Given the description of an element on the screen output the (x, y) to click on. 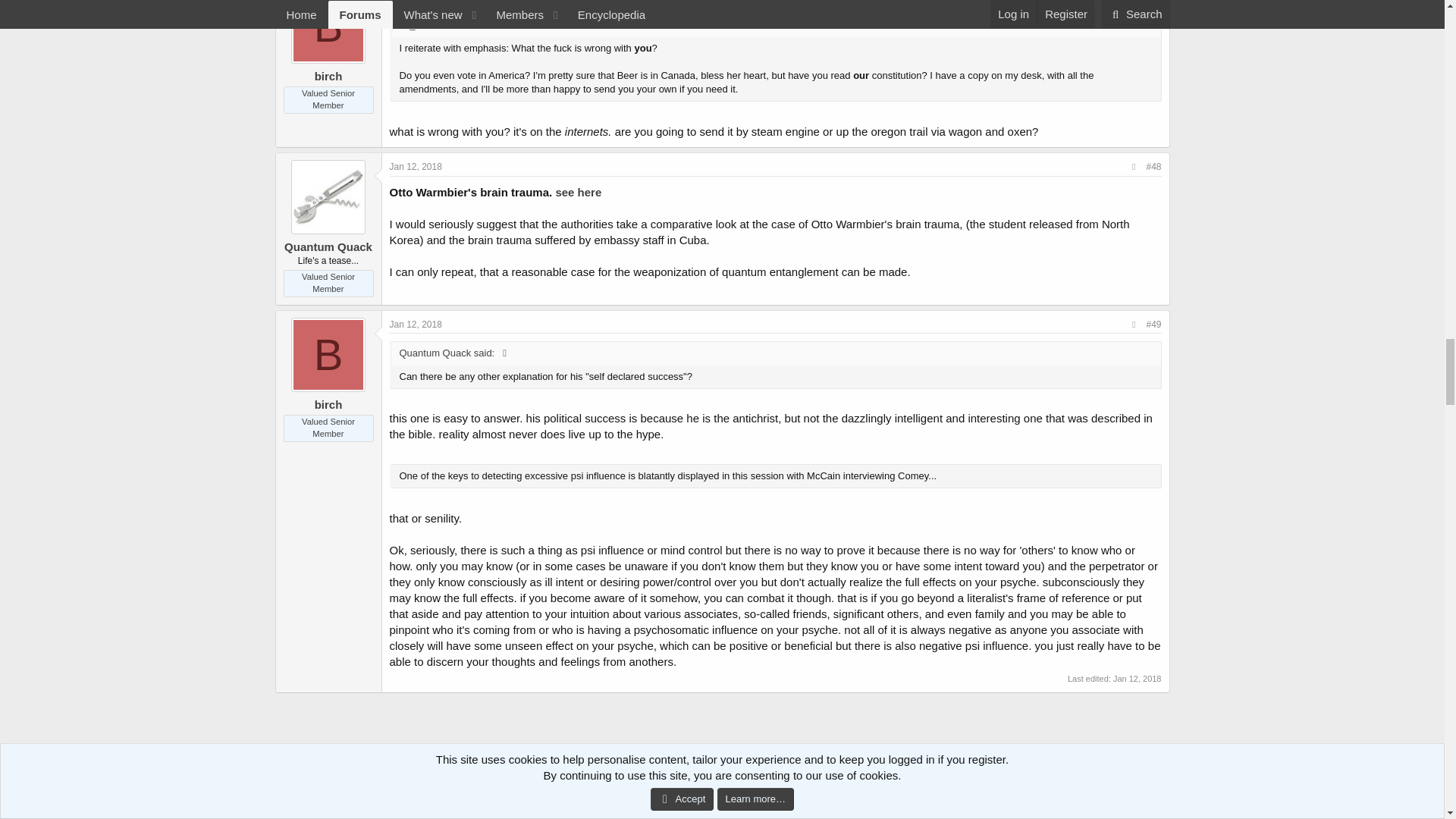
Jan 12, 2018 at 1:01 AM (416, 0)
Jan 12, 2018 at 1:11 AM (416, 166)
